Given the description of an element on the screen output the (x, y) to click on. 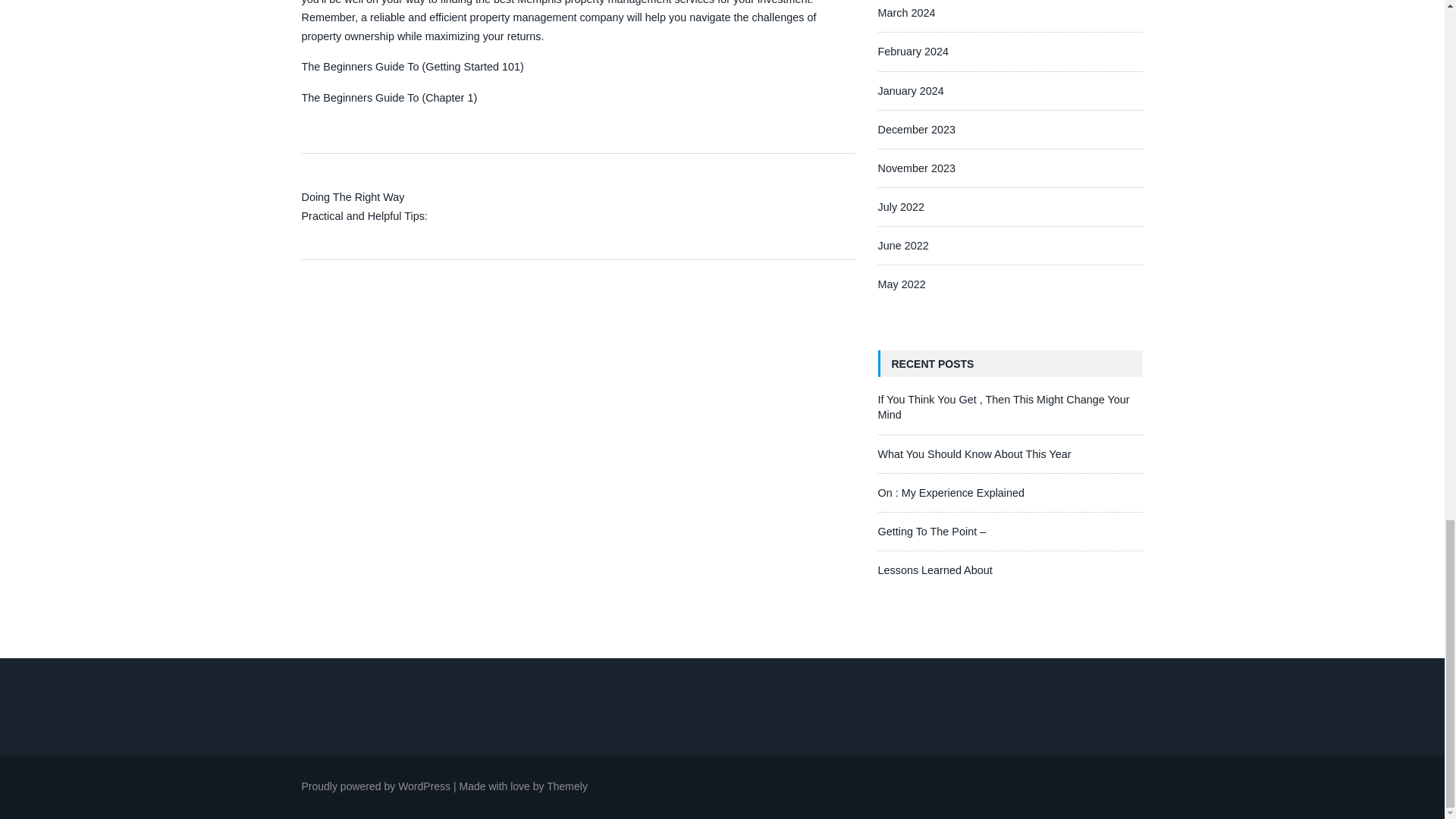
Practical and Helpful Tips: (364, 215)
Doing The Right Way (352, 196)
